Given the description of an element on the screen output the (x, y) to click on. 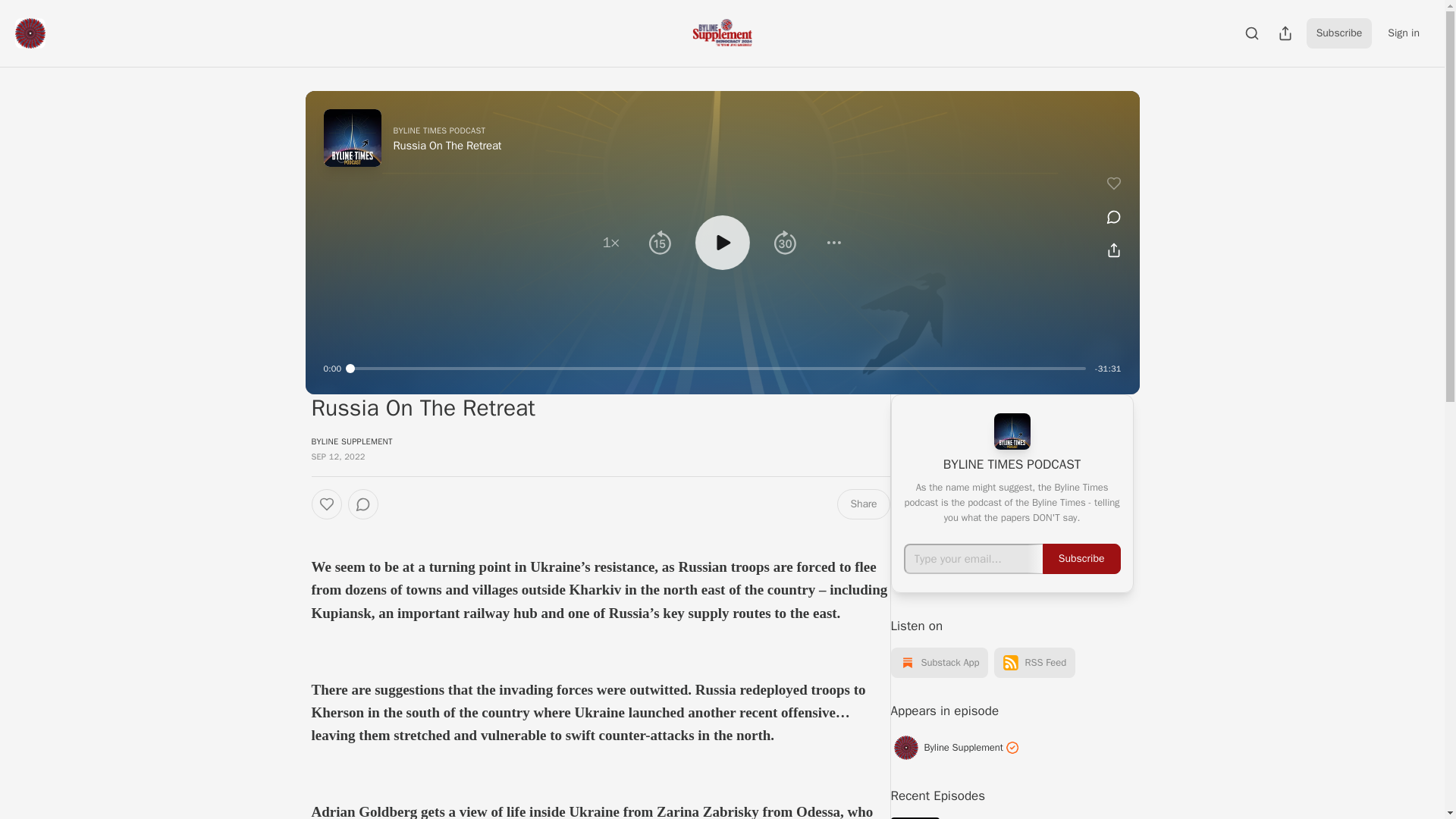
Subscribe (1339, 33)
Share (863, 503)
BYLINE SUPPLEMENT (351, 440)
Sign in (1403, 33)
